Given the description of an element on the screen output the (x, y) to click on. 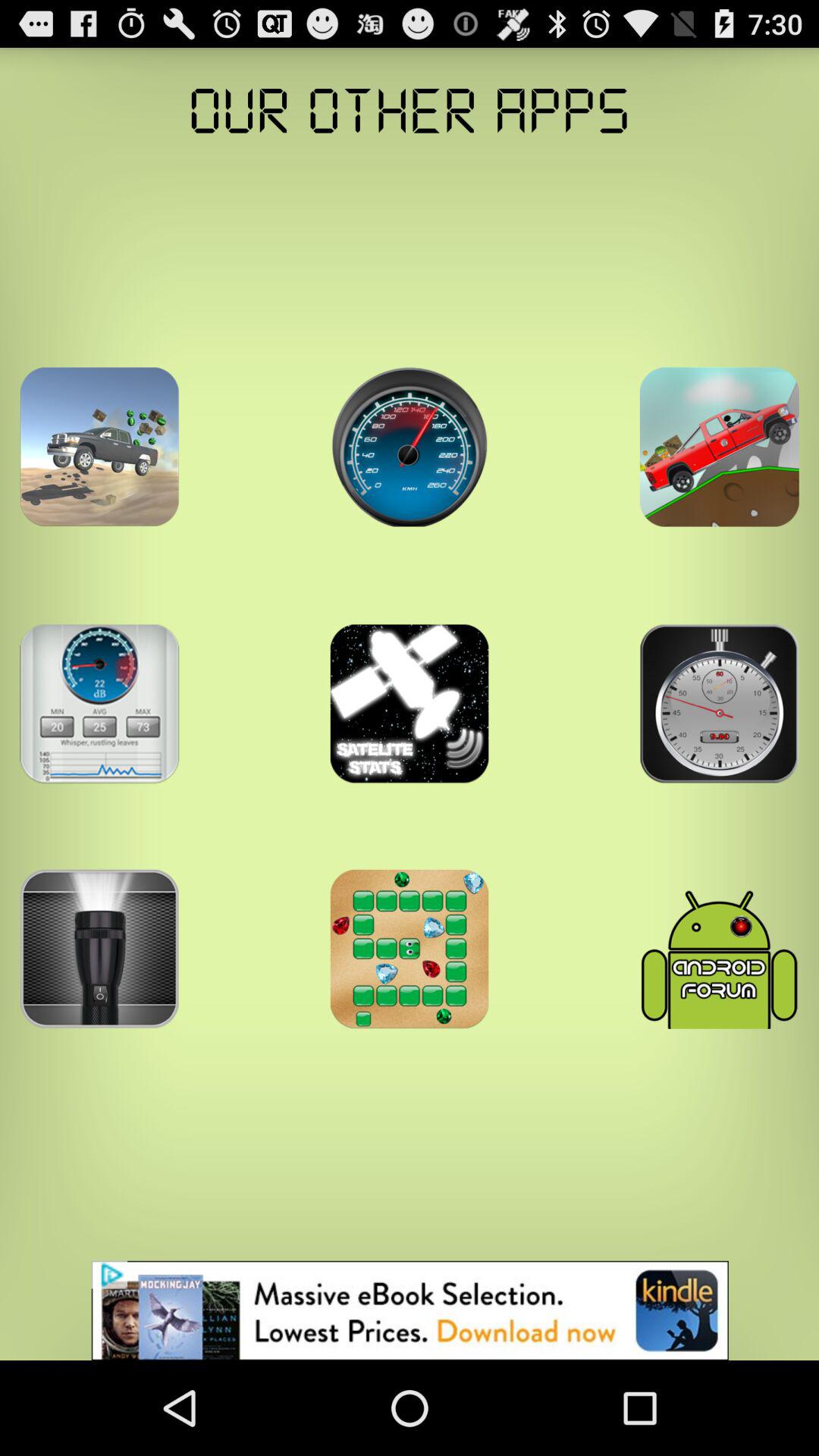
click to select (99, 703)
